Given the description of an element on the screen output the (x, y) to click on. 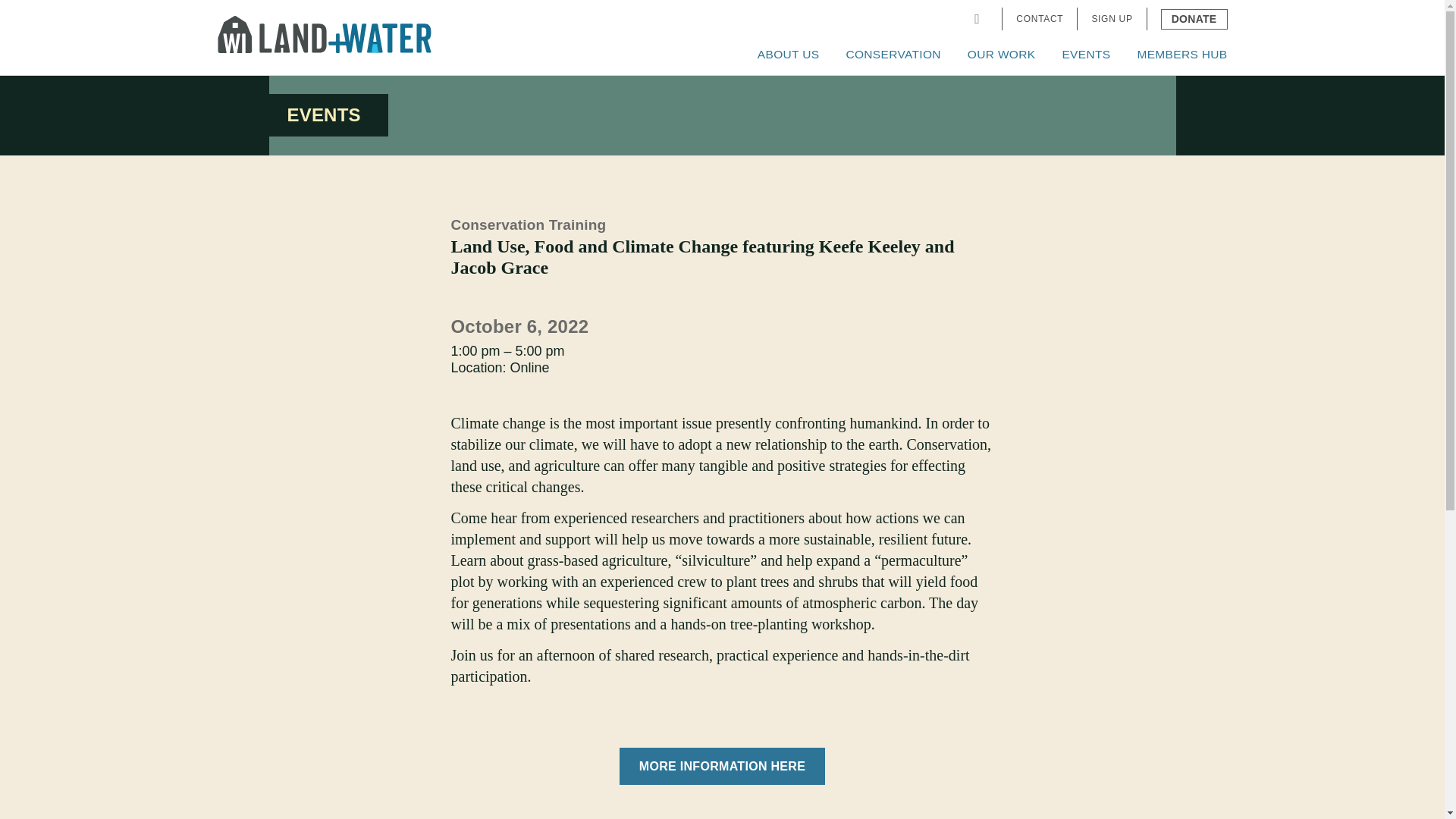
DONATE (1193, 19)
ABOUT US (788, 54)
OUR WORK (1001, 54)
MORE INFORMATION HERE (722, 765)
EVENTS (1085, 54)
CONTACT (1039, 18)
CONSERVATION (892, 54)
MEMBERS HUB (1182, 54)
SIGN UP (1111, 18)
